Given the description of an element on the screen output the (x, y) to click on. 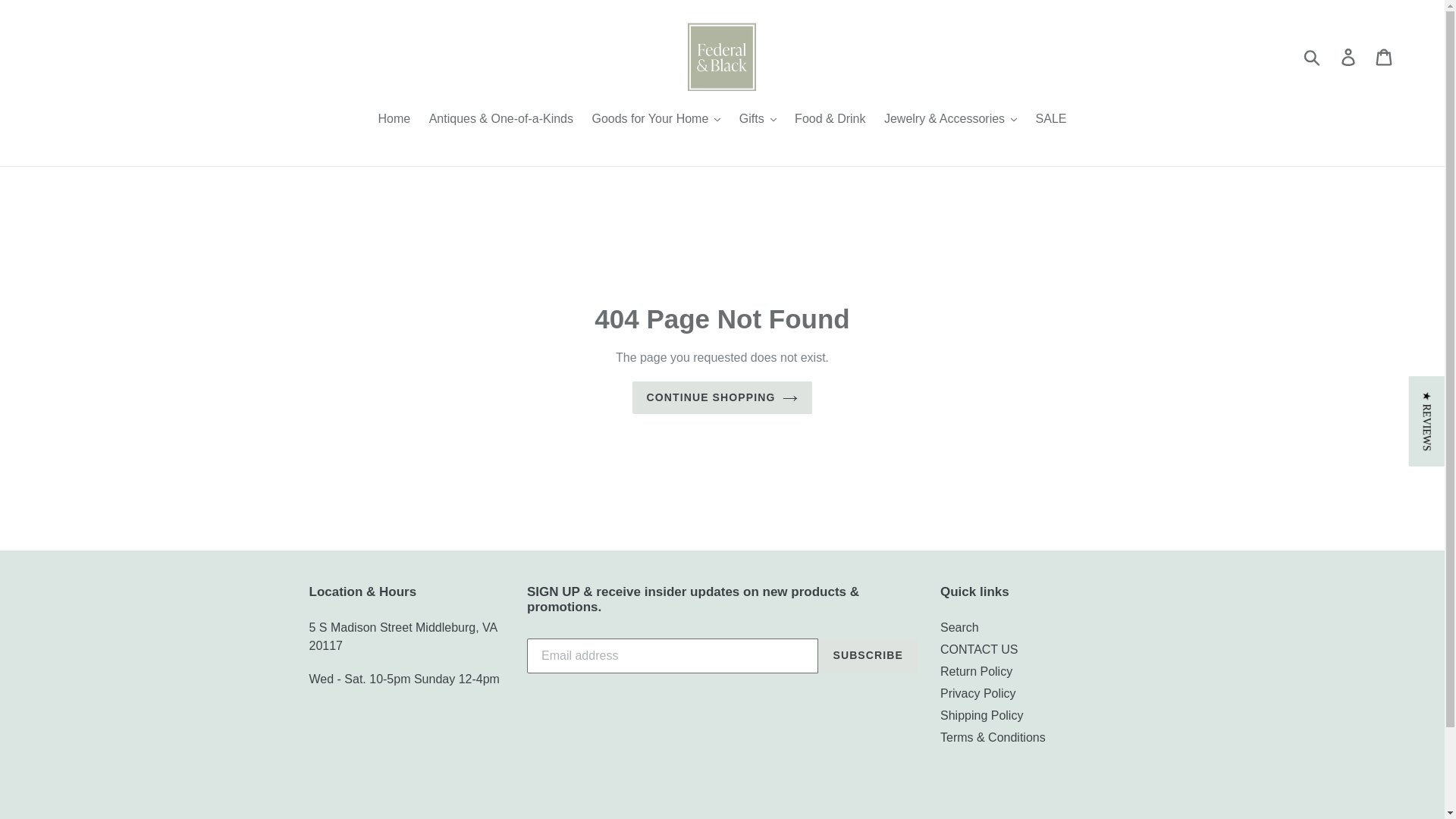
Submit (1313, 56)
Cart (1385, 56)
Log in (1349, 56)
Home (395, 119)
